Given the description of an element on the screen output the (x, y) to click on. 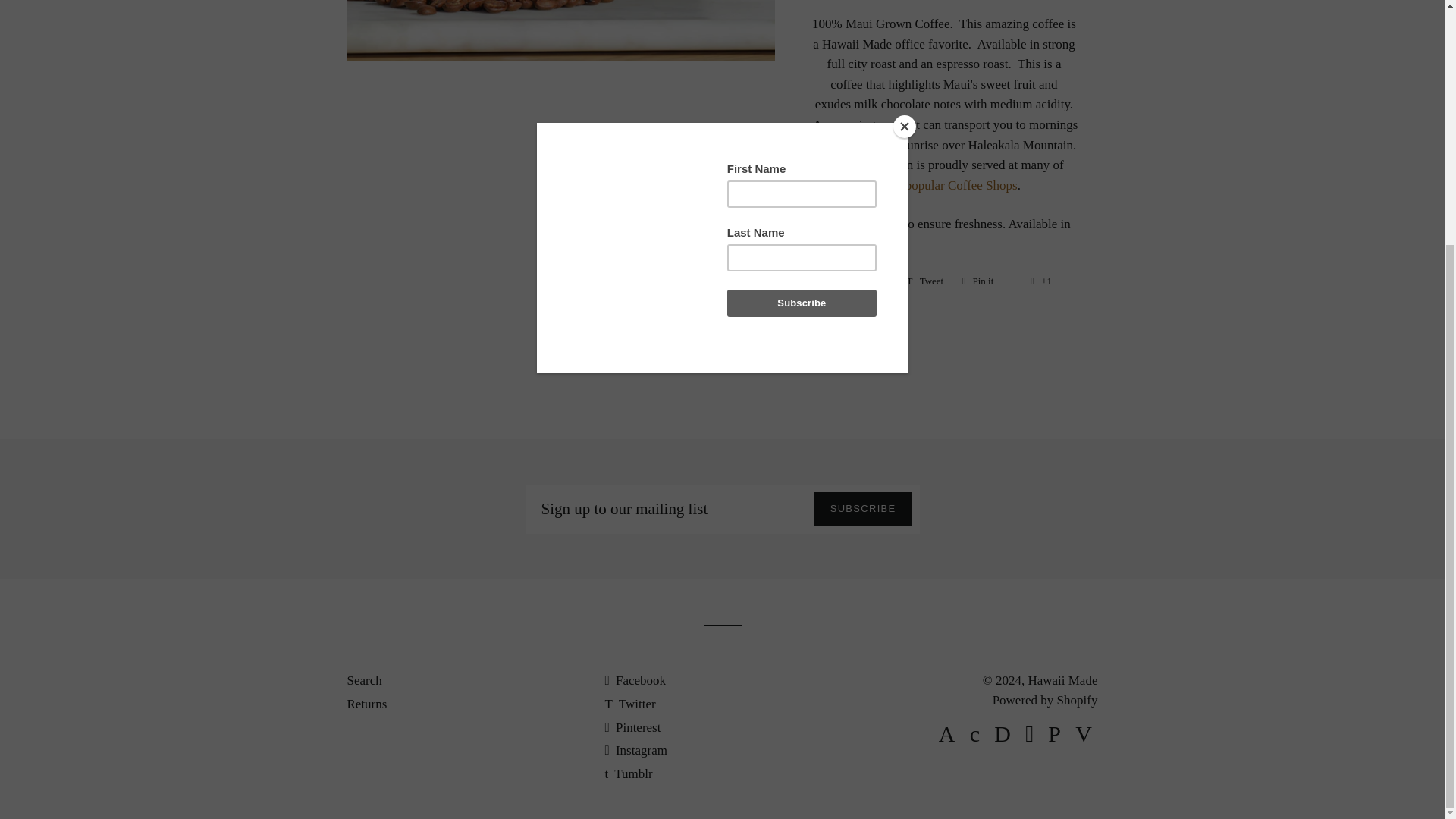
Hawaii Made on Pinterest (632, 726)
Pin on Pinterest (986, 281)
Best Places to get Coffee on Maui, Maui's Best Coffee Shops (942, 185)
Hawaii Made on Tumblr (628, 773)
Hawaii Made on Instagram (635, 749)
Tweet on Twitter (924, 281)
Hawaii Made on Twitter (924, 281)
Share on Facebook (986, 281)
